Given the description of an element on the screen output the (x, y) to click on. 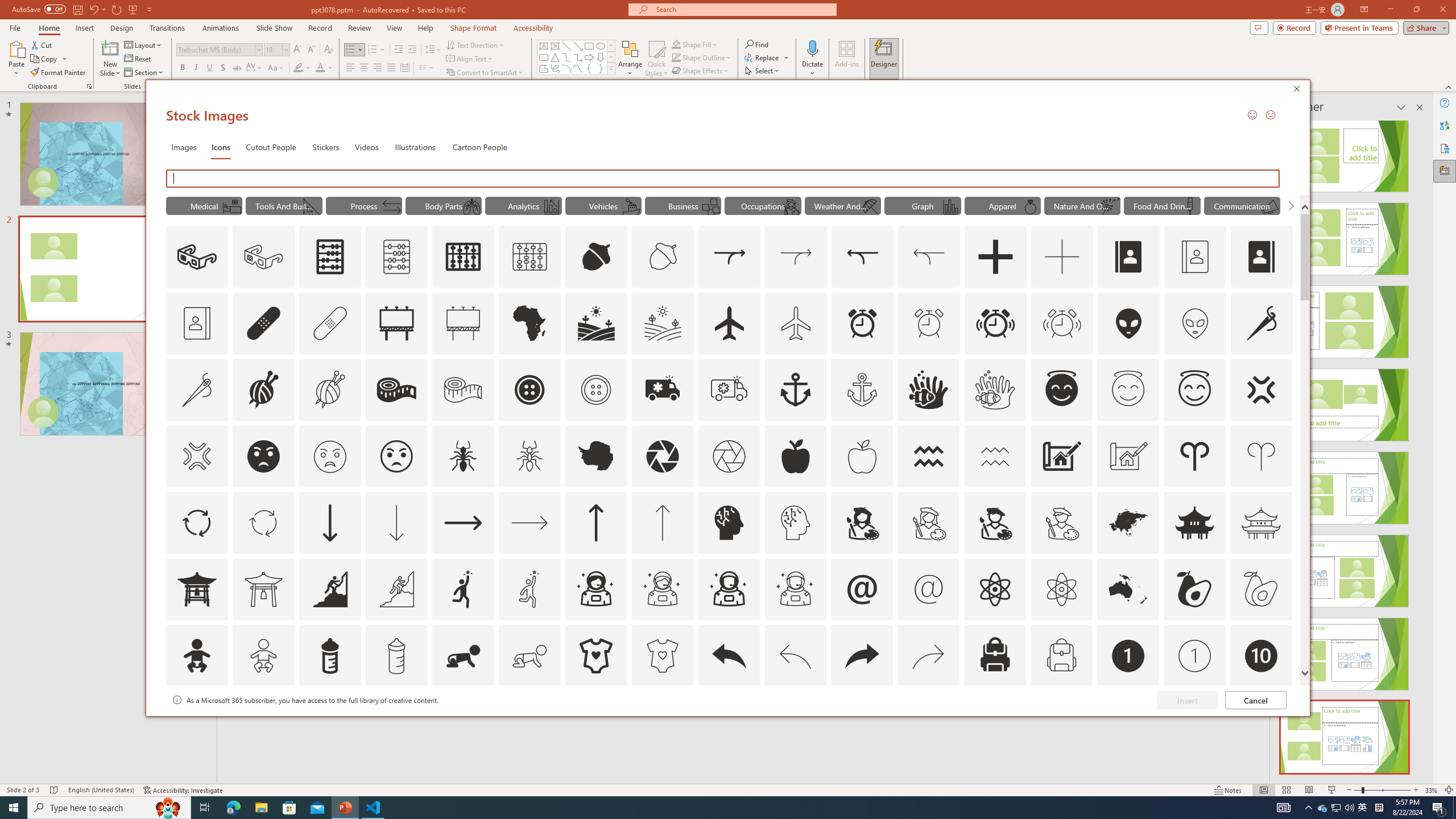
AutomationID: Icons_Acquisition_LTR (729, 256)
AutomationID: Icons_Anchor_M (861, 389)
AutomationID: Icons_Badge1 (1128, 655)
AutomationID: Icons_Badge7 (928, 721)
AutomationID: Icons_AlarmClock (863, 323)
